Given the description of an element on the screen output the (x, y) to click on. 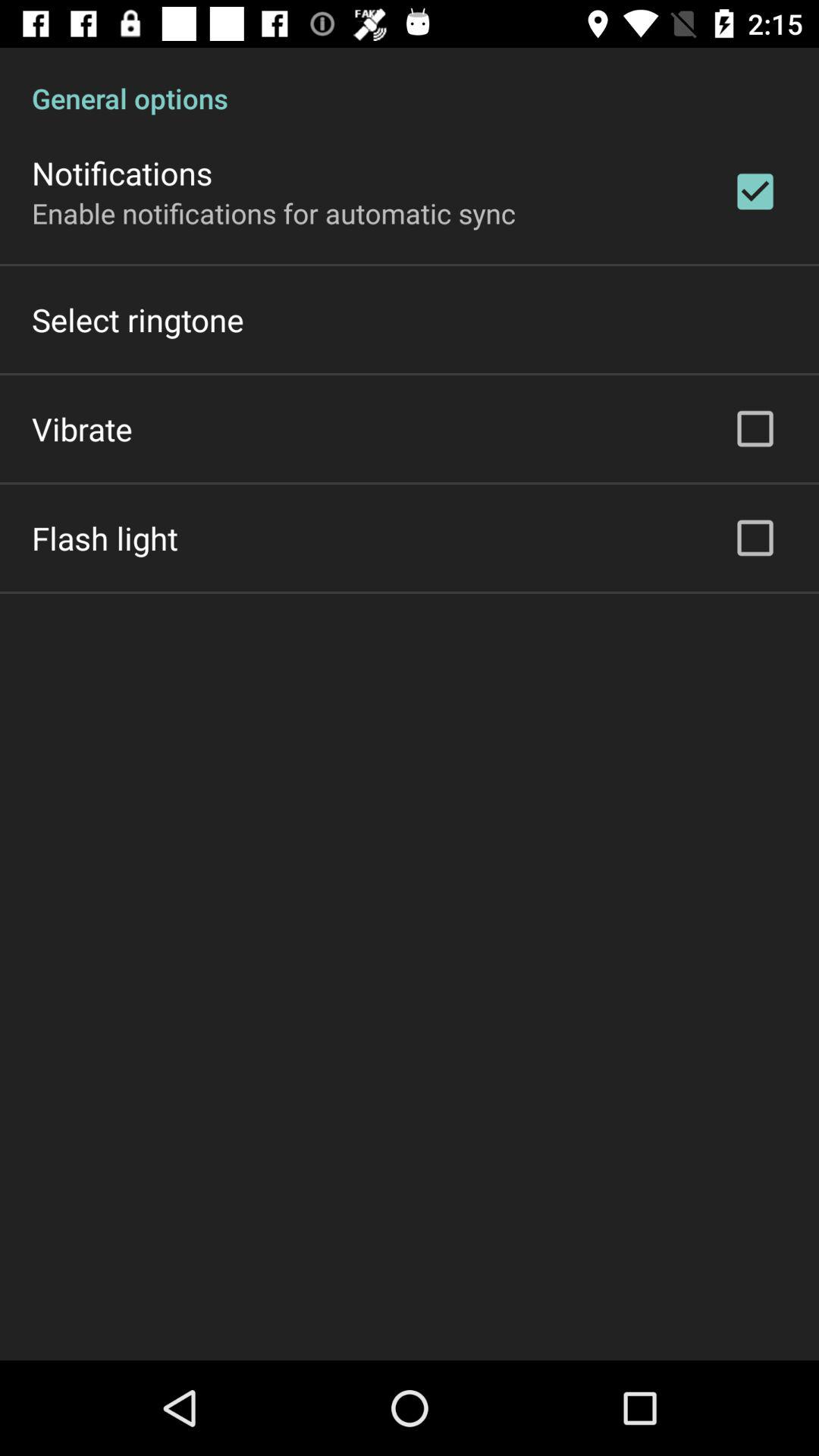
jump until flash light item (104, 537)
